Given the description of an element on the screen output the (x, y) to click on. 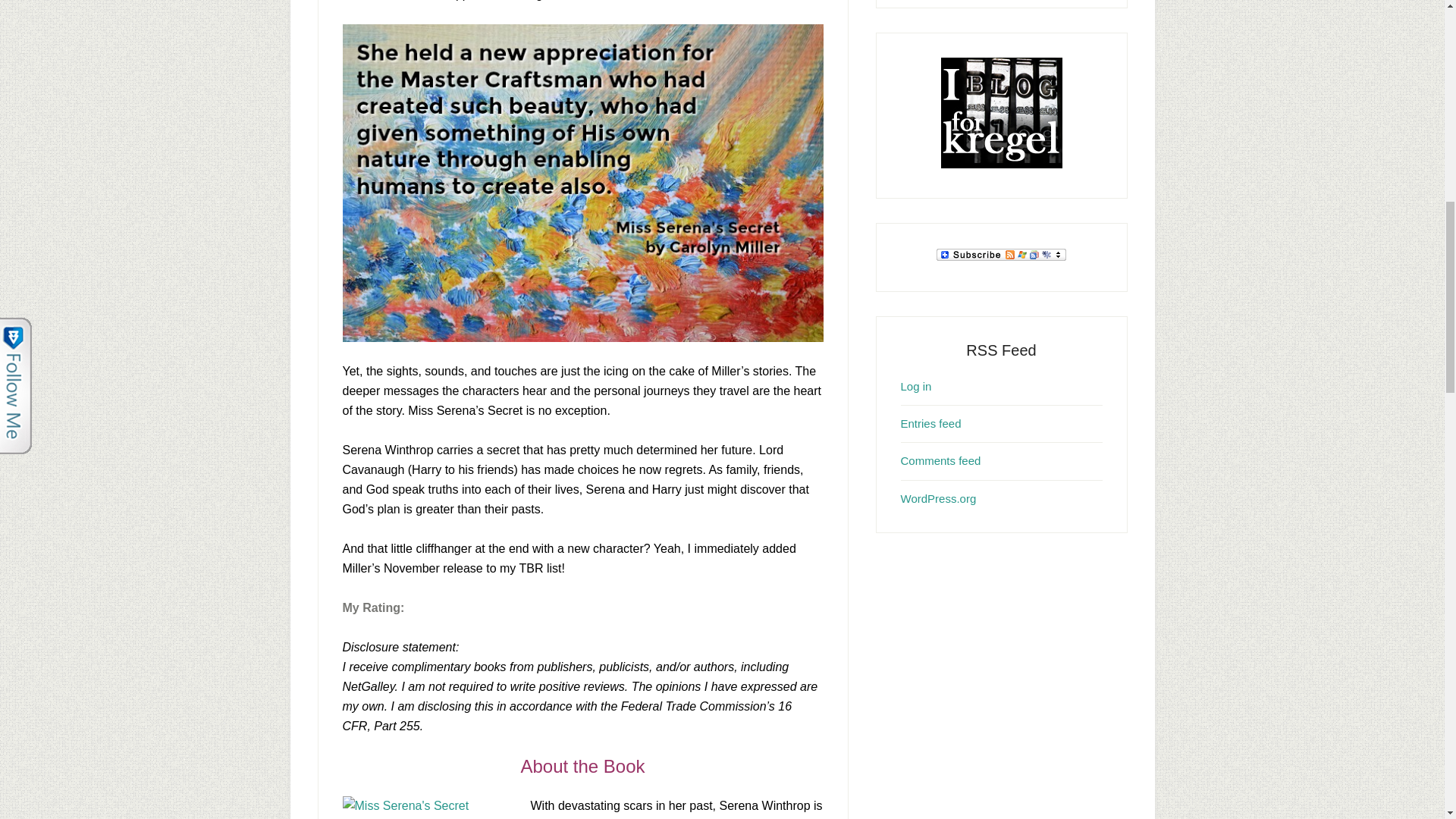
Entries feed (930, 422)
WordPress.org (938, 498)
Comments feed (941, 460)
Log in (916, 385)
